Given the description of an element on the screen output the (x, y) to click on. 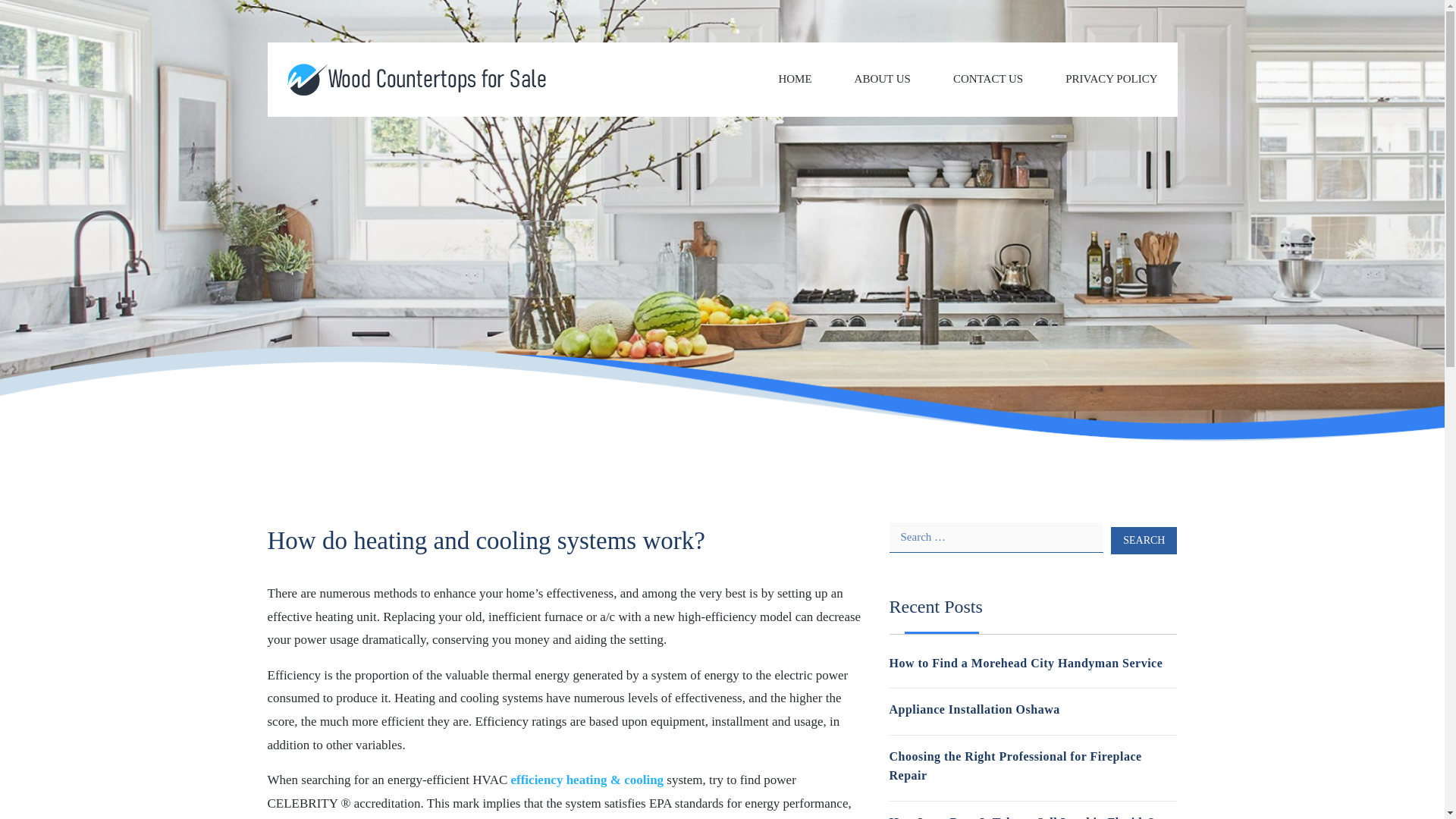
Search (1143, 539)
ABOUT US (882, 78)
Appliance Installation Oshawa (973, 708)
How Long Does It Take to Sell Land in Florida? (1021, 817)
Search (1143, 539)
Choosing the Right Professional for Fireplace Repair (1014, 766)
PRIVACY POLICY (1111, 78)
HOME (793, 78)
How to Find a Morehead City Handyman Service (1024, 662)
CONTACT US (988, 78)
Search (1143, 539)
